Given the description of an element on the screen output the (x, y) to click on. 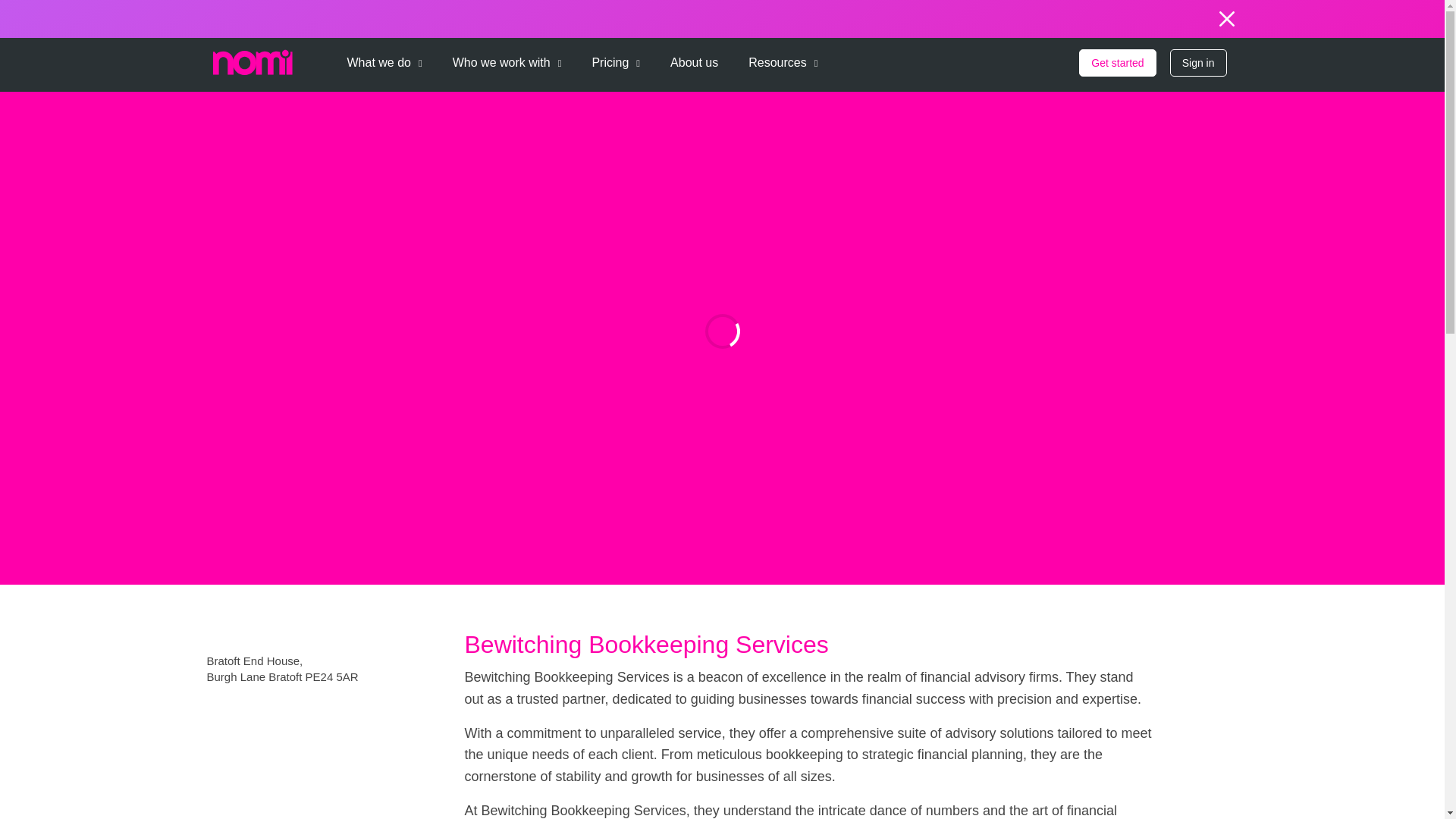
Who we work with (507, 58)
Sign in (1198, 62)
Get started (1117, 62)
Sign In (1198, 62)
Get started (1117, 62)
Pricing (615, 58)
Close (1225, 18)
About us (693, 58)
Resources (782, 58)
What we do (384, 58)
